Given the description of an element on the screen output the (x, y) to click on. 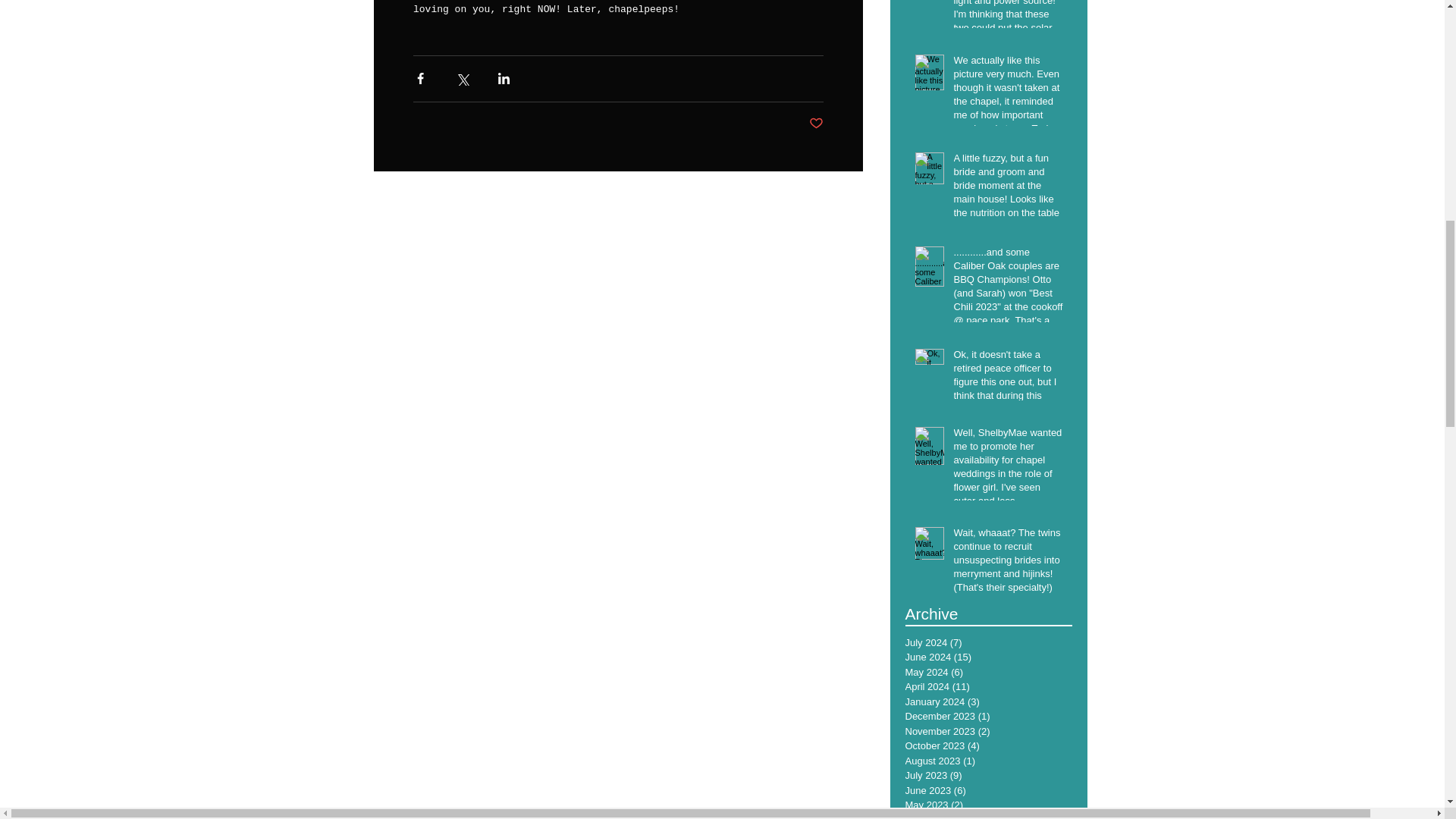
Anybody Hungry? Who Wouldn't be?!?!? (1080, 310)
Post not marked as liked (815, 123)
